Given the description of an element on the screen output the (x, y) to click on. 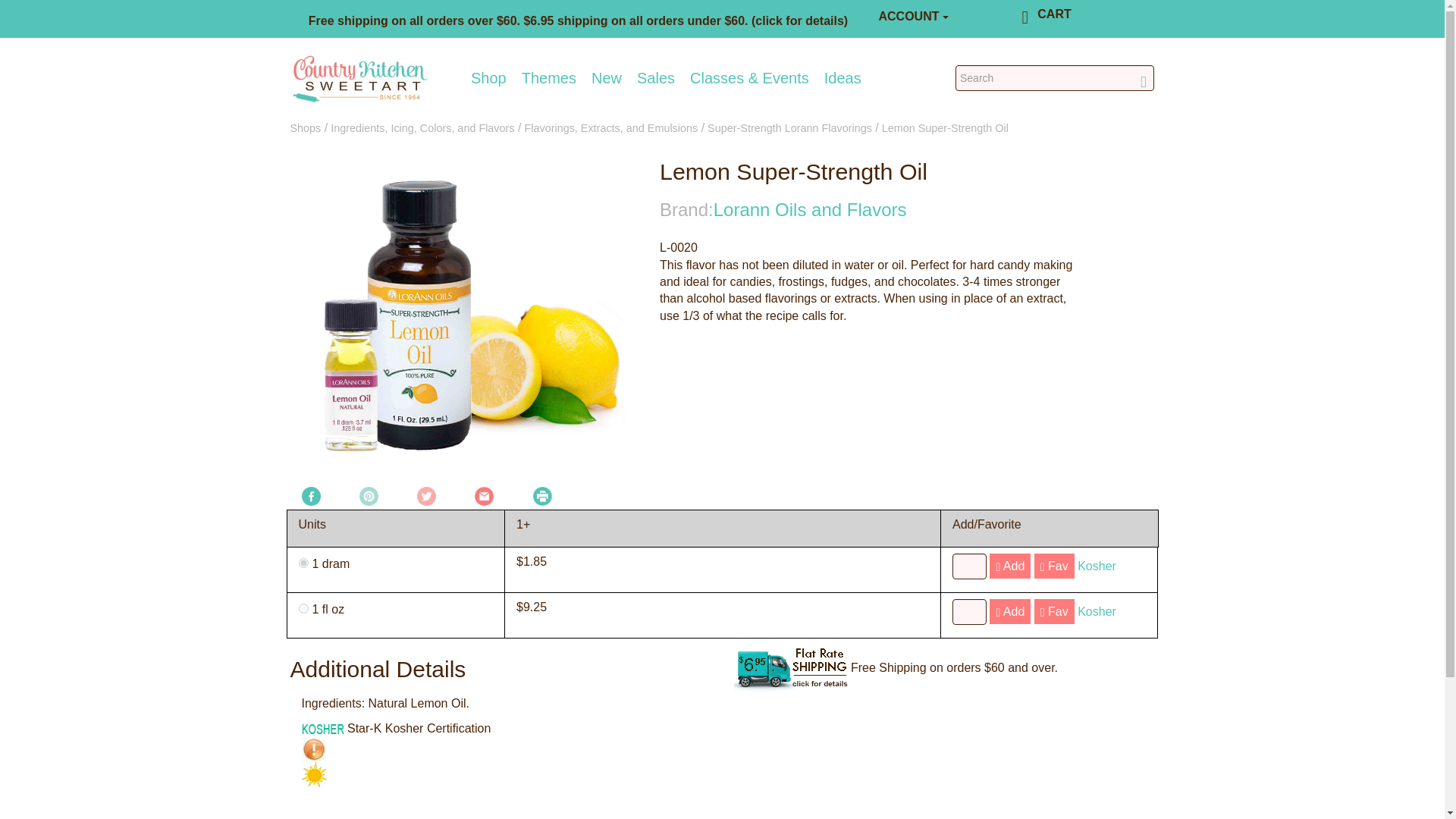
Lemon Super-Strength Oil (463, 321)
Enter number of items to purchase (969, 566)
42-2020 (303, 562)
Enter number of items to purchase (969, 611)
ACCOUNT (913, 16)
Shop (488, 77)
CART (1053, 13)
Share by Email (483, 495)
L-0020 (303, 608)
